Given the description of an element on the screen output the (x, y) to click on. 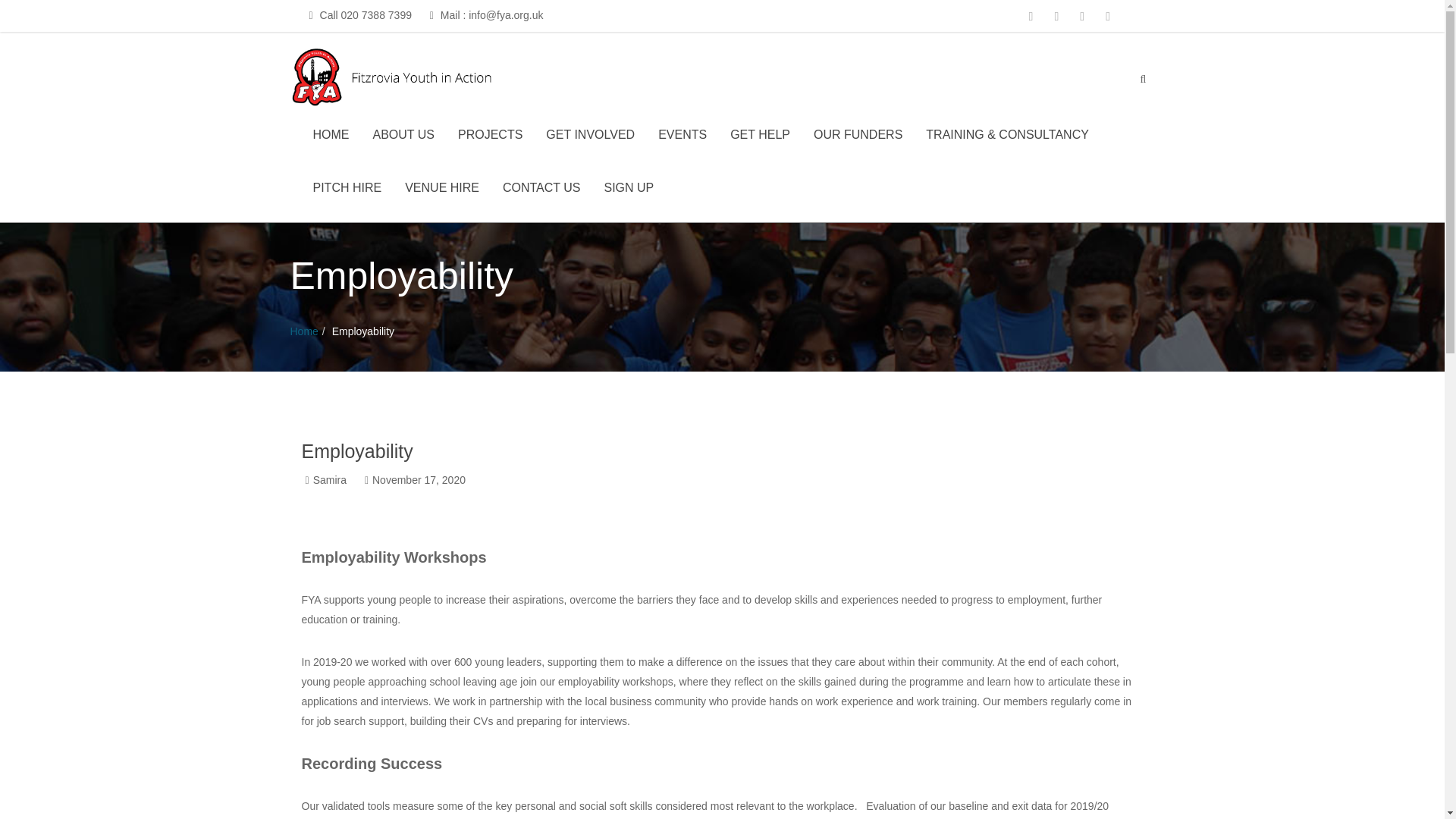
PROJECTS (490, 142)
Twitter (1029, 16)
Facebook (1054, 16)
ABOUT US (403, 142)
HOME (331, 142)
Youtube (1080, 16)
GET INVOLVED (590, 142)
Instagram (1106, 16)
